Given the description of an element on the screen output the (x, y) to click on. 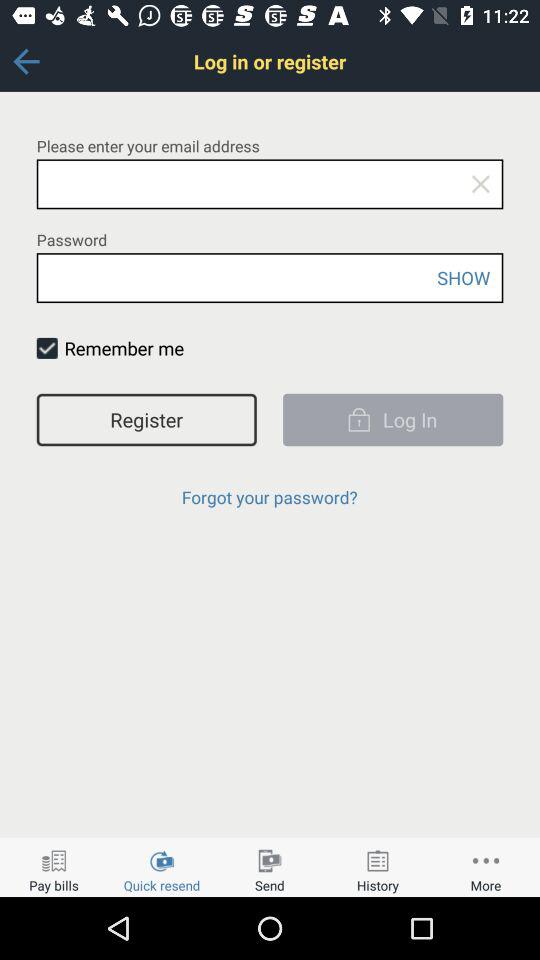
go back (26, 61)
